Given the description of an element on the screen output the (x, y) to click on. 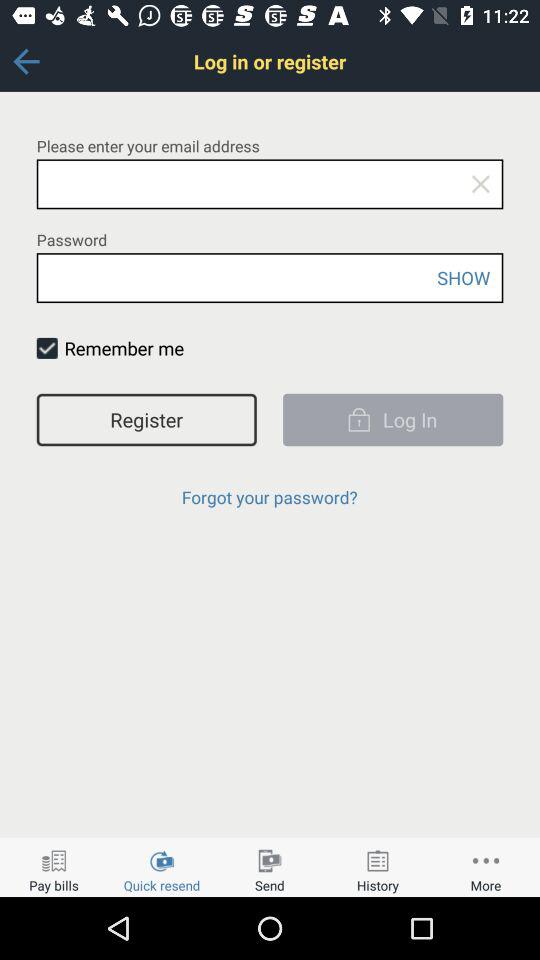
go back (26, 61)
